Given the description of an element on the screen output the (x, y) to click on. 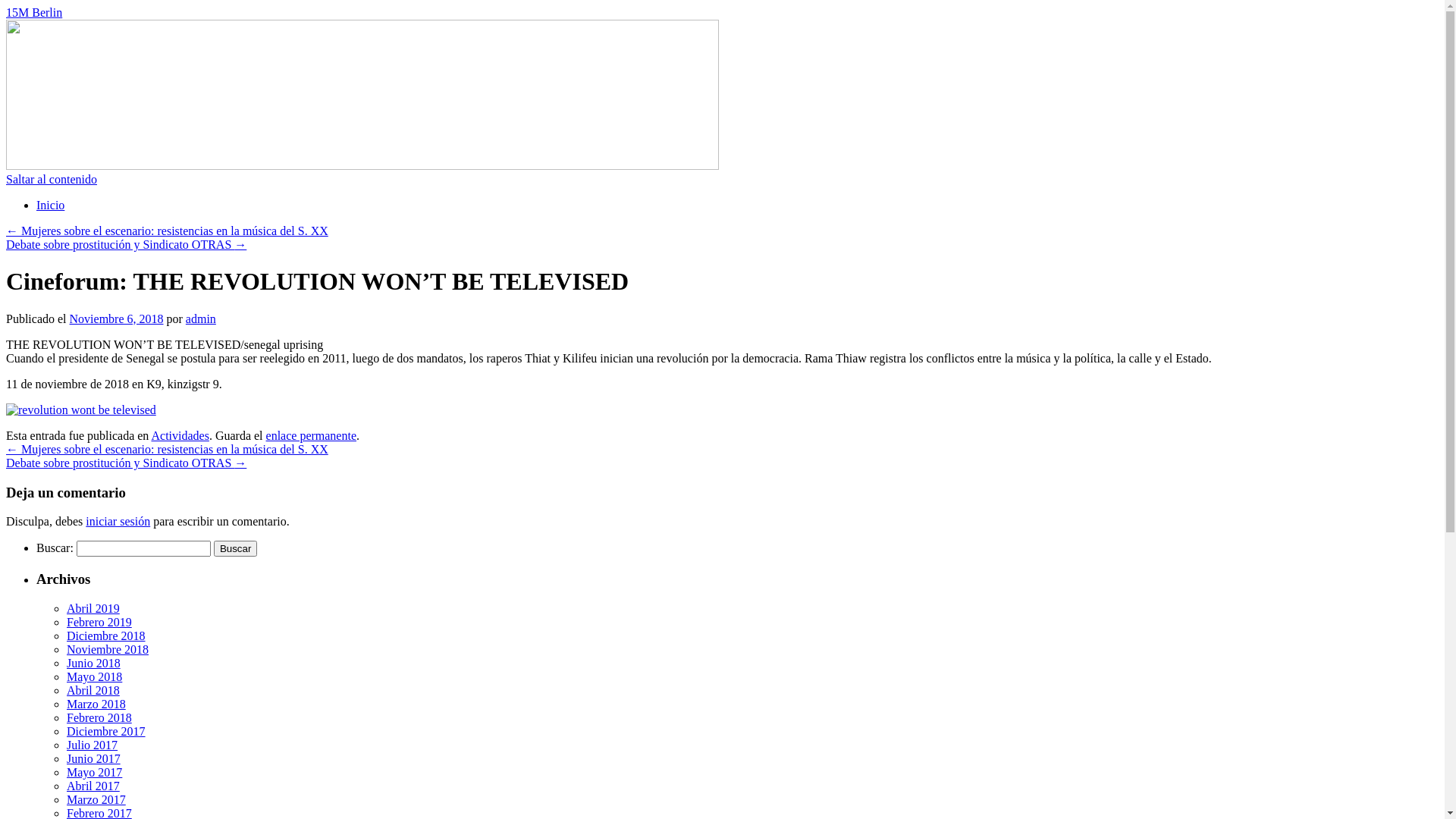
15M Berlin Element type: text (34, 12)
Marzo 2018 Element type: text (95, 703)
Febrero 2019 Element type: text (98, 621)
Junio 2017 Element type: text (93, 758)
admin Element type: text (200, 318)
Diciembre 2018 Element type: text (105, 635)
Junio 2018 Element type: text (93, 662)
Noviembre 2018 Element type: text (107, 649)
Diciembre 2017 Element type: text (105, 730)
enlace permanente Element type: text (311, 435)
Abril 2018 Element type: text (92, 690)
Marzo 2017 Element type: text (95, 799)
Noviembre 6, 2018 Element type: text (116, 318)
Abril 2019 Element type: text (92, 608)
Buscar Element type: text (235, 548)
Inicio Element type: text (50, 204)
Saltar al contenido Element type: text (51, 178)
Actividades Element type: text (179, 435)
Abril 2017 Element type: text (92, 785)
Mayo 2018 Element type: text (94, 676)
Julio 2017 Element type: text (91, 744)
Mayo 2017 Element type: text (94, 771)
Febrero 2018 Element type: text (98, 717)
